Given the description of an element on the screen output the (x, y) to click on. 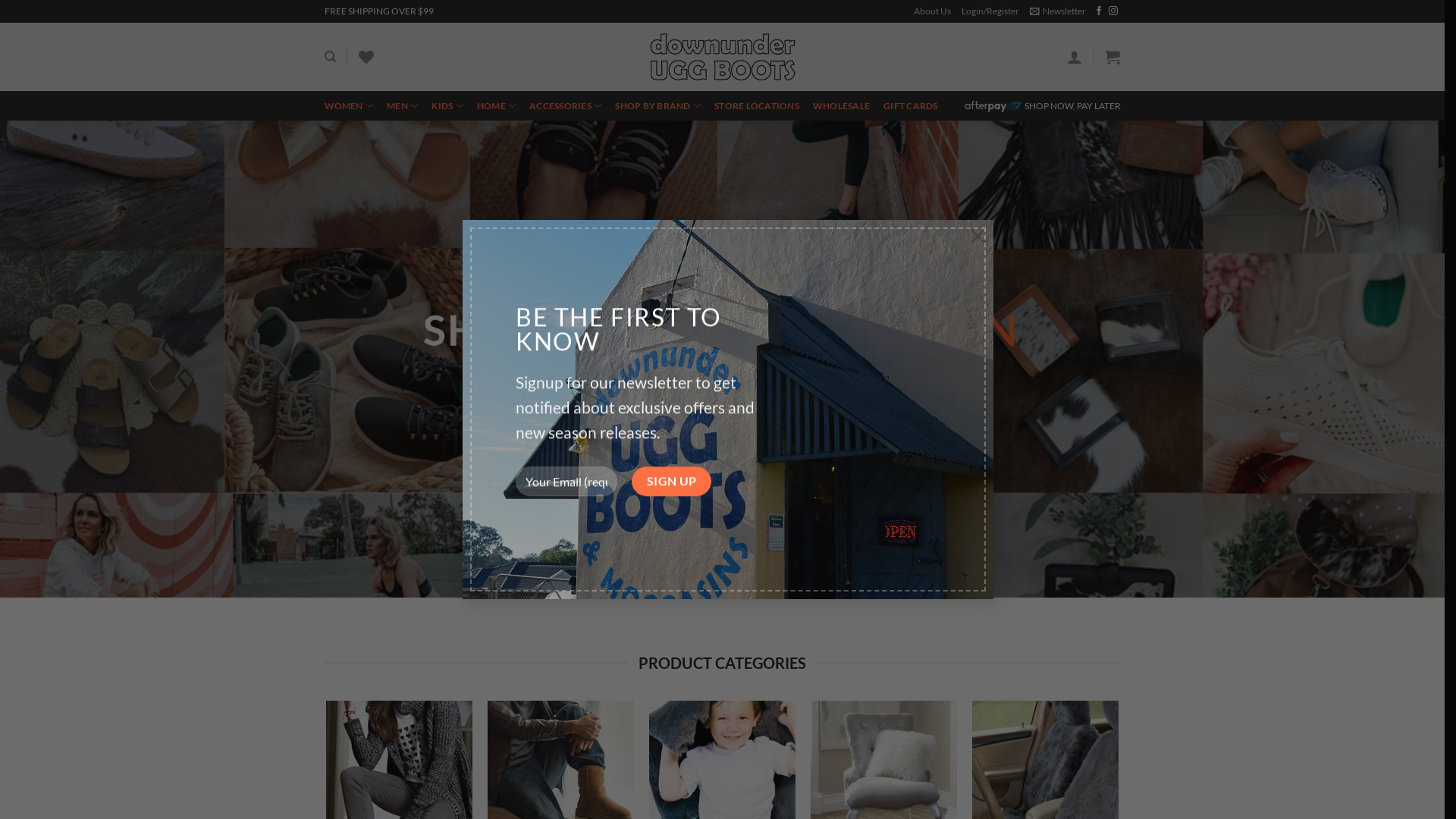
ACCESSORIES Element type: text (565, 105)
SHOP MEN Element type: text (732, 436)
STORE LOCATIONS Element type: text (756, 105)
SHOP BY BRAND Element type: text (657, 105)
WHOLESALE Element type: text (840, 105)
GIFT CARDS Element type: text (910, 105)
SHOP KIDS Element type: text (845, 436)
About Us Element type: text (931, 11)
Newsletter Element type: text (1057, 11)
Sign Up Element type: text (671, 468)
KIDS Element type: text (446, 105)
Downunder Ugg Boots - Authentic Australian Made Ugg Boots Element type: hover (721, 57)
WOMEN Element type: text (348, 105)
FREE SHIPPING OVER $99 Element type: text (378, 10)
MEN Element type: text (401, 105)
HOME Element type: text (495, 105)
Cart Element type: hover (1112, 56)
SHOP WOMEN Element type: text (610, 436)
Login/Register Element type: text (990, 11)
